Given the description of an element on the screen output the (x, y) to click on. 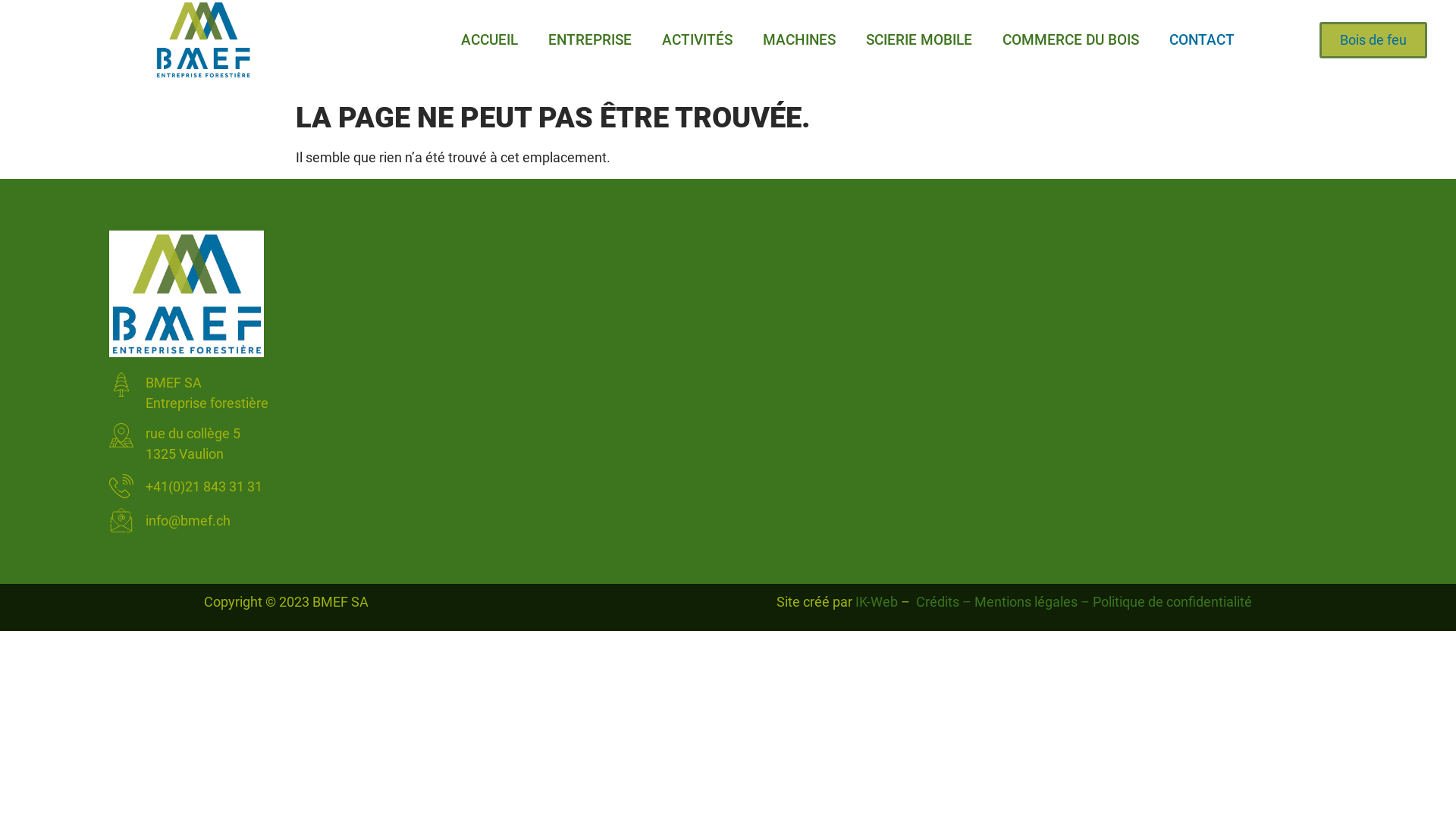
COMMERCE DU BOIS Element type: text (1070, 39)
Bois de feu Element type: text (1373, 39)
ACCUEIL Element type: text (489, 39)
SCIERIE MOBILE Element type: text (918, 39)
ENTREPRISE Element type: text (589, 39)
IK-Web Element type: text (876, 601)
CONTACT Element type: text (1201, 39)
MACHINES Element type: text (798, 39)
info@bmef.ch Element type: text (410, 520)
+41(0)21 843 31 31 Element type: text (410, 485)
